Given the description of an element on the screen output the (x, y) to click on. 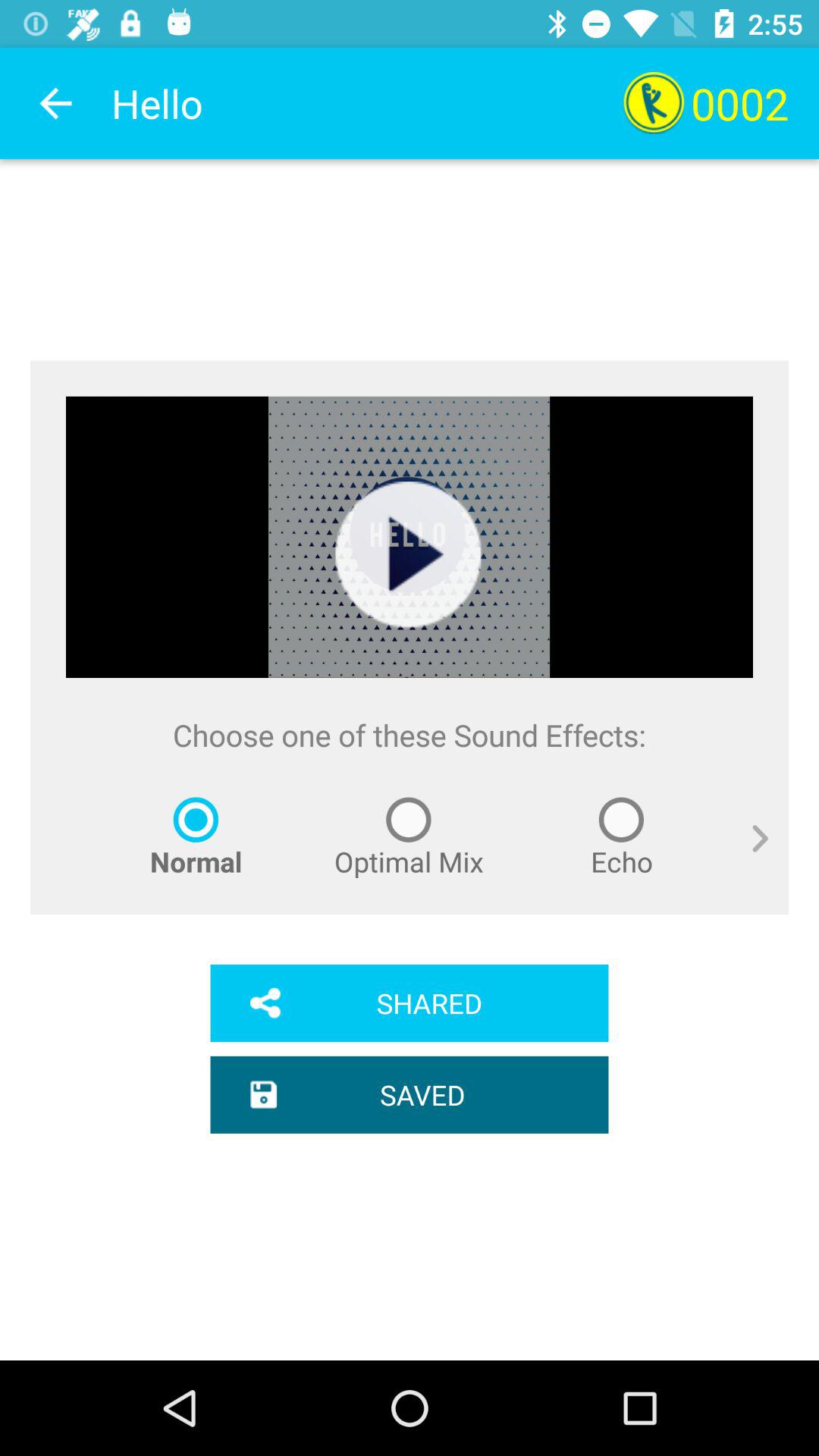
turn on item above saved (409, 1002)
